Given the description of an element on the screen output the (x, y) to click on. 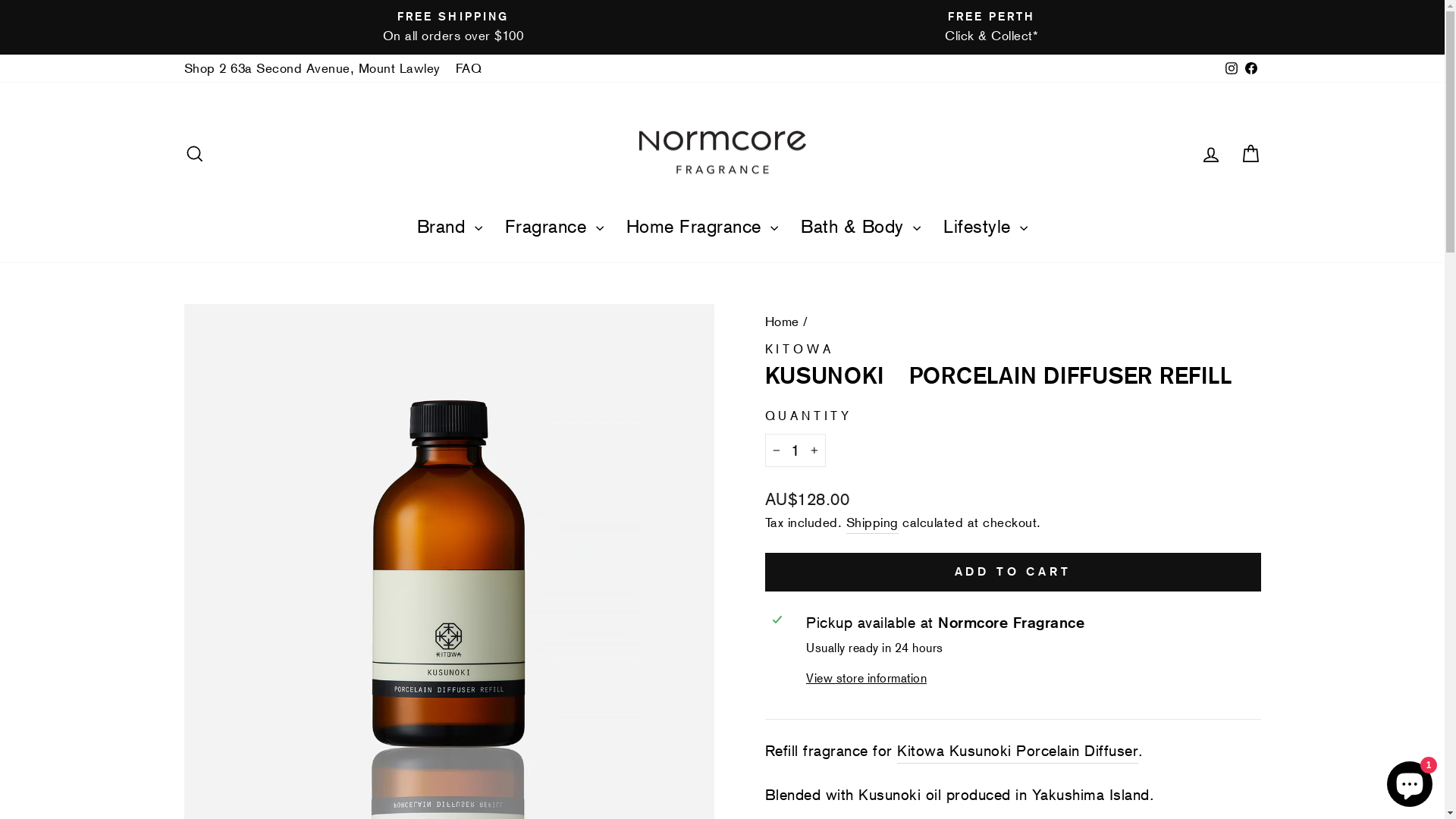
instagram
Instagram Element type: text (1230, 68)
Shipping Element type: text (872, 522)
FAQ Element type: text (468, 68)
icon-search
Search Element type: text (193, 151)
Home Element type: text (781, 321)
Shopify online store chat Element type: hover (1409, 780)
Cart Element type: text (1249, 151)
ADD TO CART Element type: text (1012, 571)
account
Log in Element type: text (1210, 151)
View store information Element type: text (1029, 678)
Shop 2 63a Second Avenue, Mount Lawley Element type: text (311, 68)
Kitowa Kusunoki Porcelain Diffuser Element type: text (1017, 750)
Facebook Element type: text (1250, 68)
+ Element type: text (813, 450)
